Given the description of an element on the screen output the (x, y) to click on. 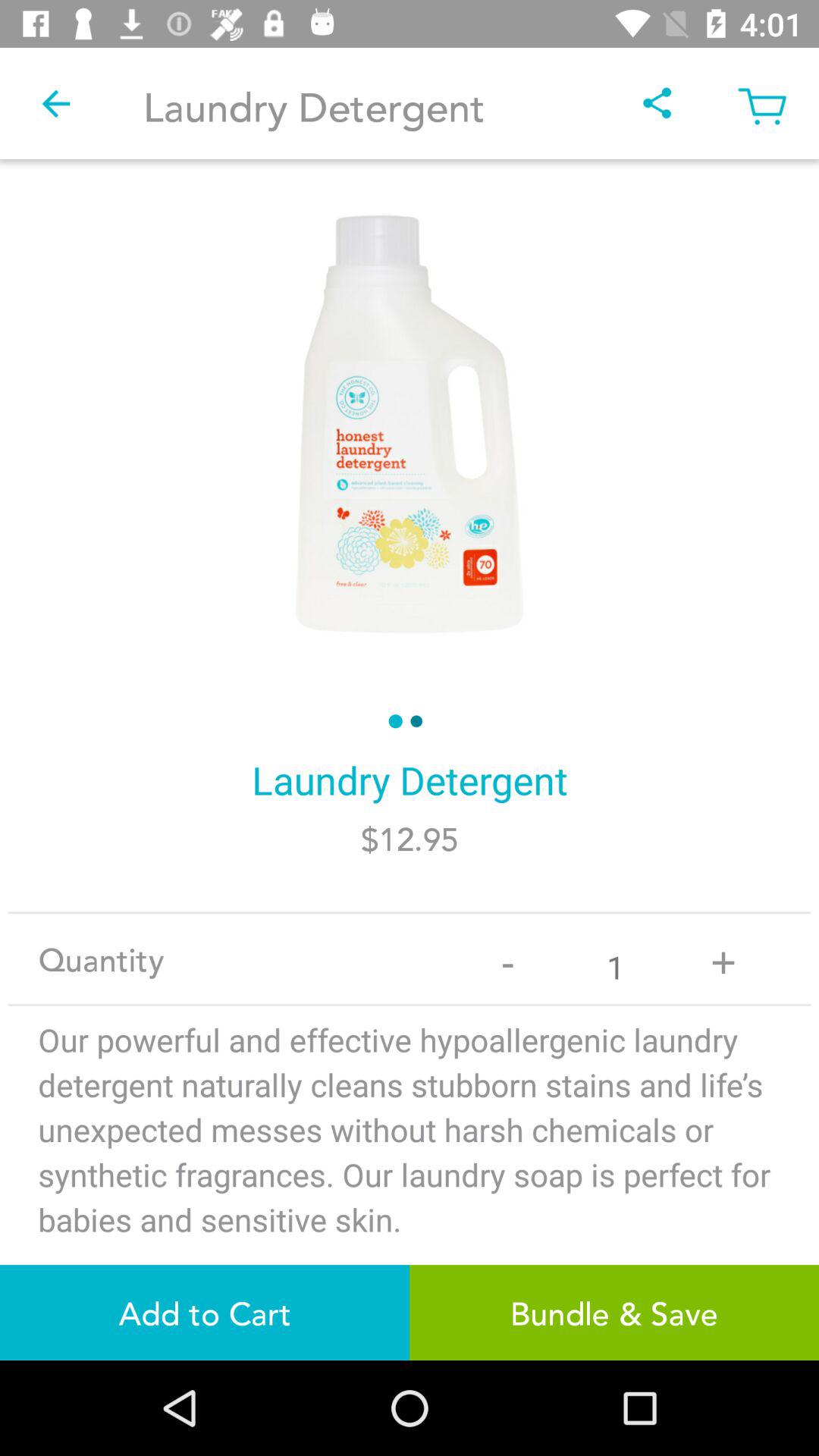
tap icon to the right of add to cart icon (614, 1312)
